Given the description of an element on the screen output the (x, y) to click on. 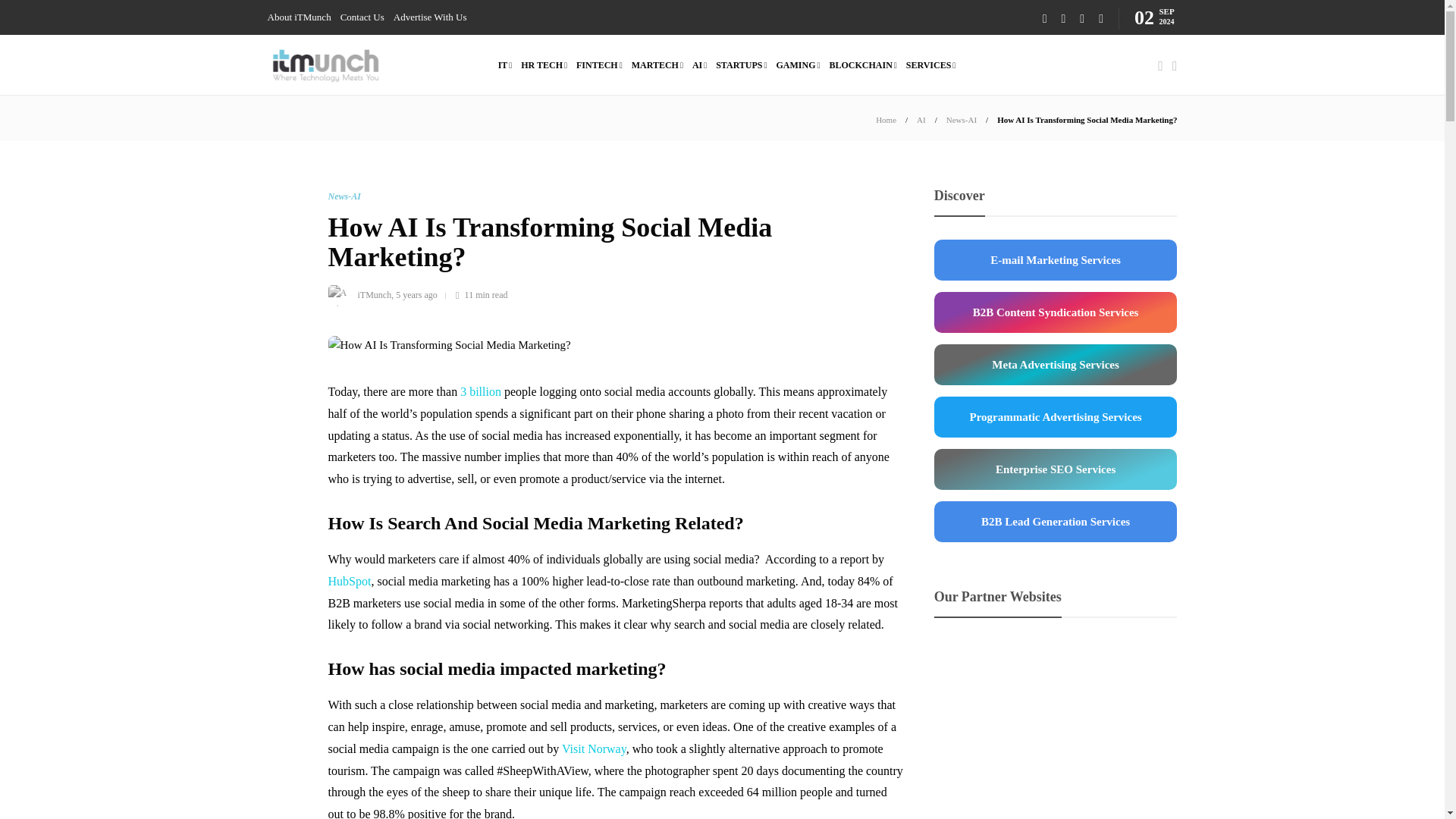
Contact Us (362, 17)
How AI Is Transforming Social Media Marketing? (1086, 119)
Home (886, 119)
Advertise With Us (430, 17)
About iTMunch (298, 17)
